Given the description of an element on the screen output the (x, y) to click on. 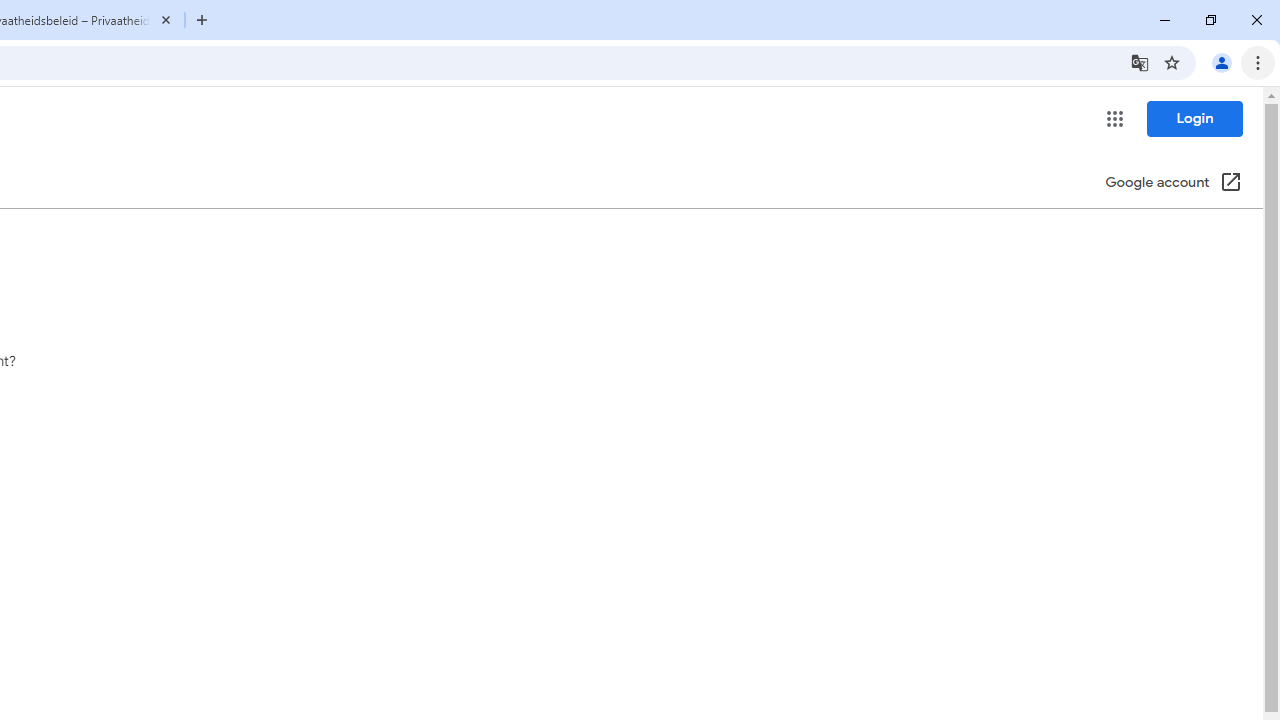
You (1221, 62)
Login (1194, 118)
Minimize (1165, 20)
New Tab (202, 20)
Bookmark this tab (1171, 62)
Chrome (1260, 62)
Close (166, 19)
Google apps (1114, 118)
Google Account (Opens in new window) (1173, 183)
Translate this page (1139, 62)
Restore (1210, 20)
